Given the description of an element on the screen output the (x, y) to click on. 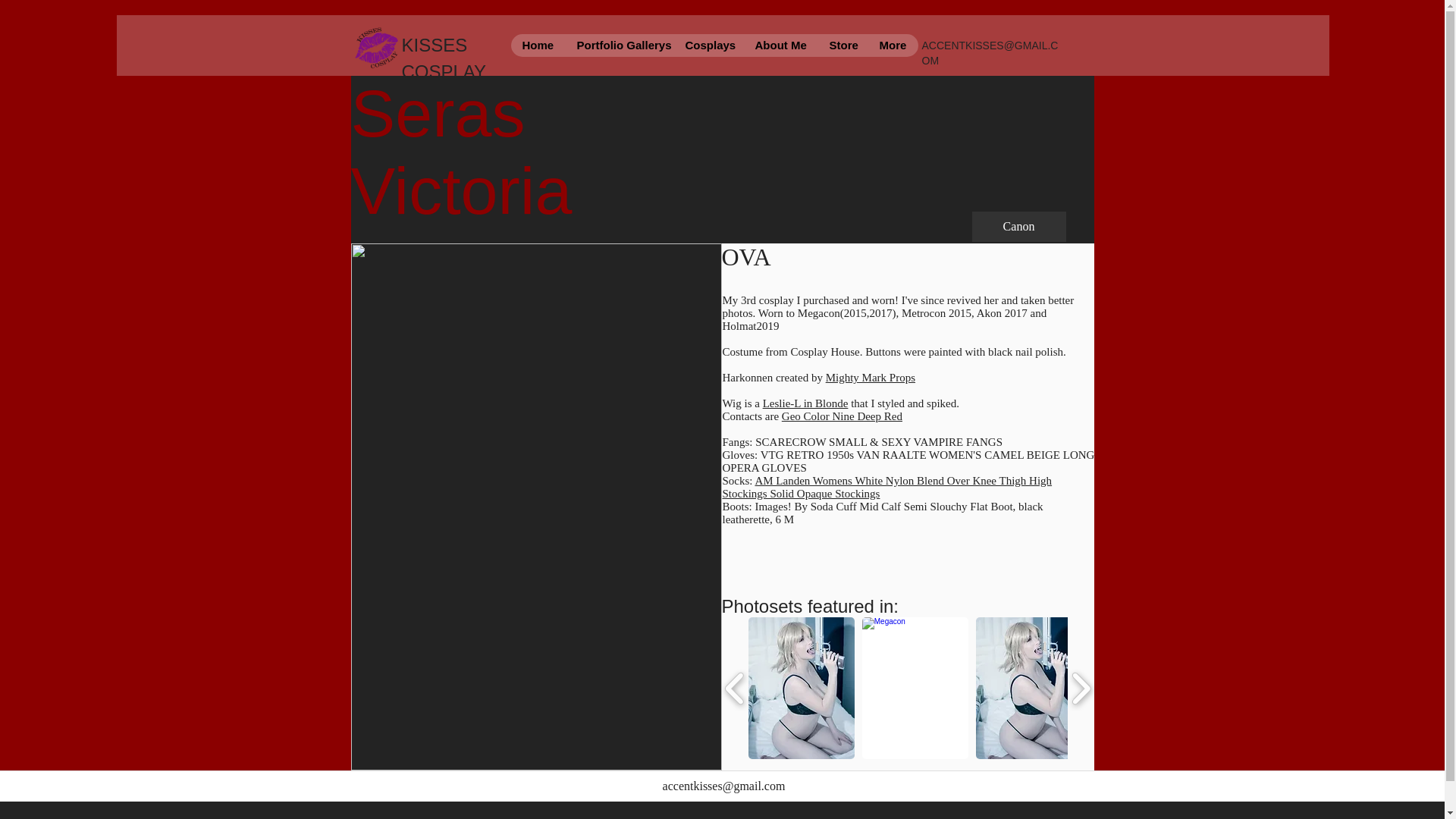
Home (537, 45)
Leslie-L in Blonde (805, 403)
About Me (779, 45)
Mighty Mark Props (870, 377)
Canon (1018, 226)
Geo Color Nine Deep Red (841, 416)
Cosplays (707, 45)
Portfolio Gallerys (618, 45)
Store (841, 45)
